Given the description of an element on the screen output the (x, y) to click on. 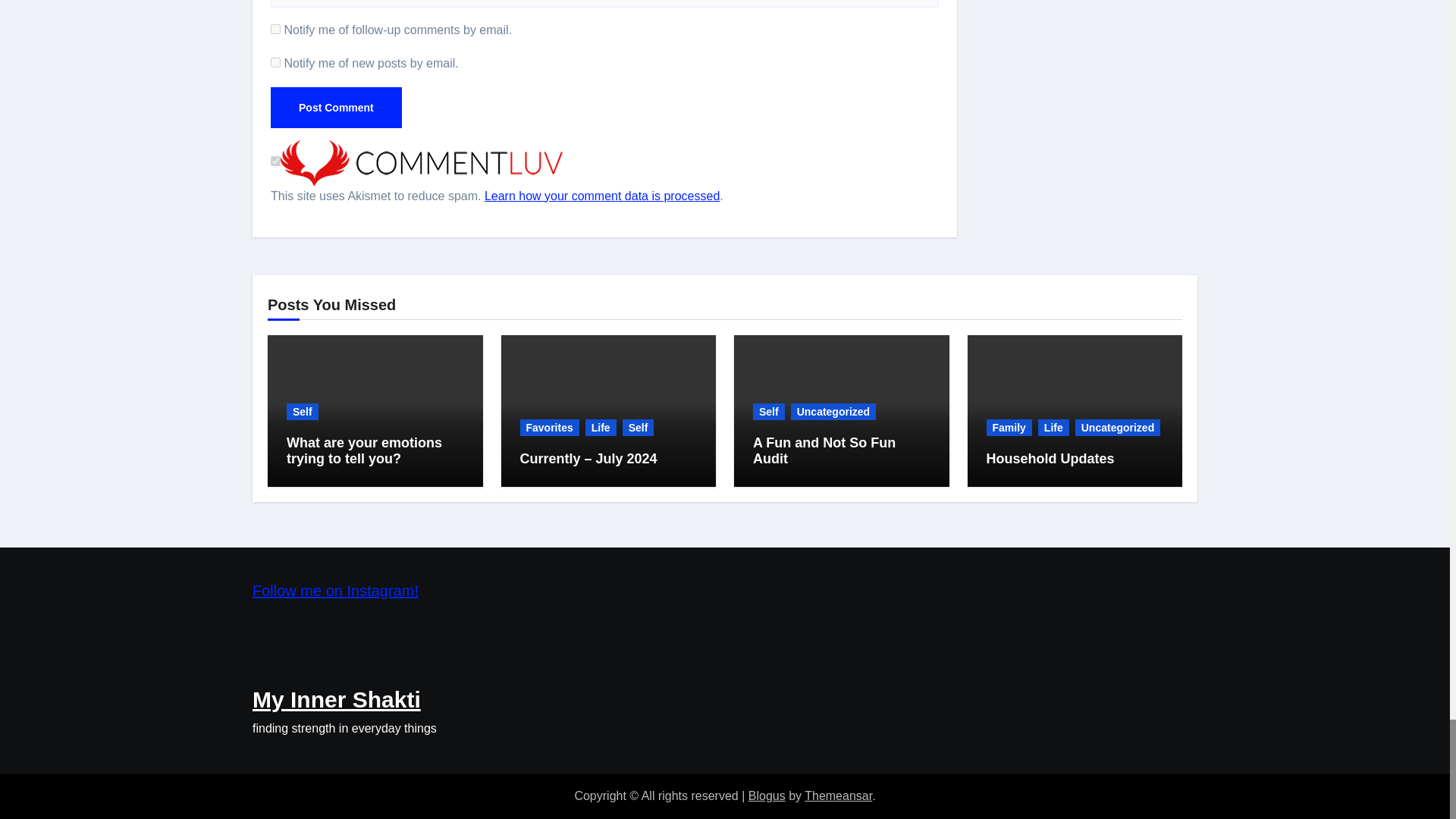
Permalink to: What are your emotions trying to tell you? (364, 450)
subscribe (275, 62)
CommentLuv is enabled (421, 161)
on (275, 161)
subscribe (275, 29)
Post Comment (335, 106)
